Given the description of an element on the screen output the (x, y) to click on. 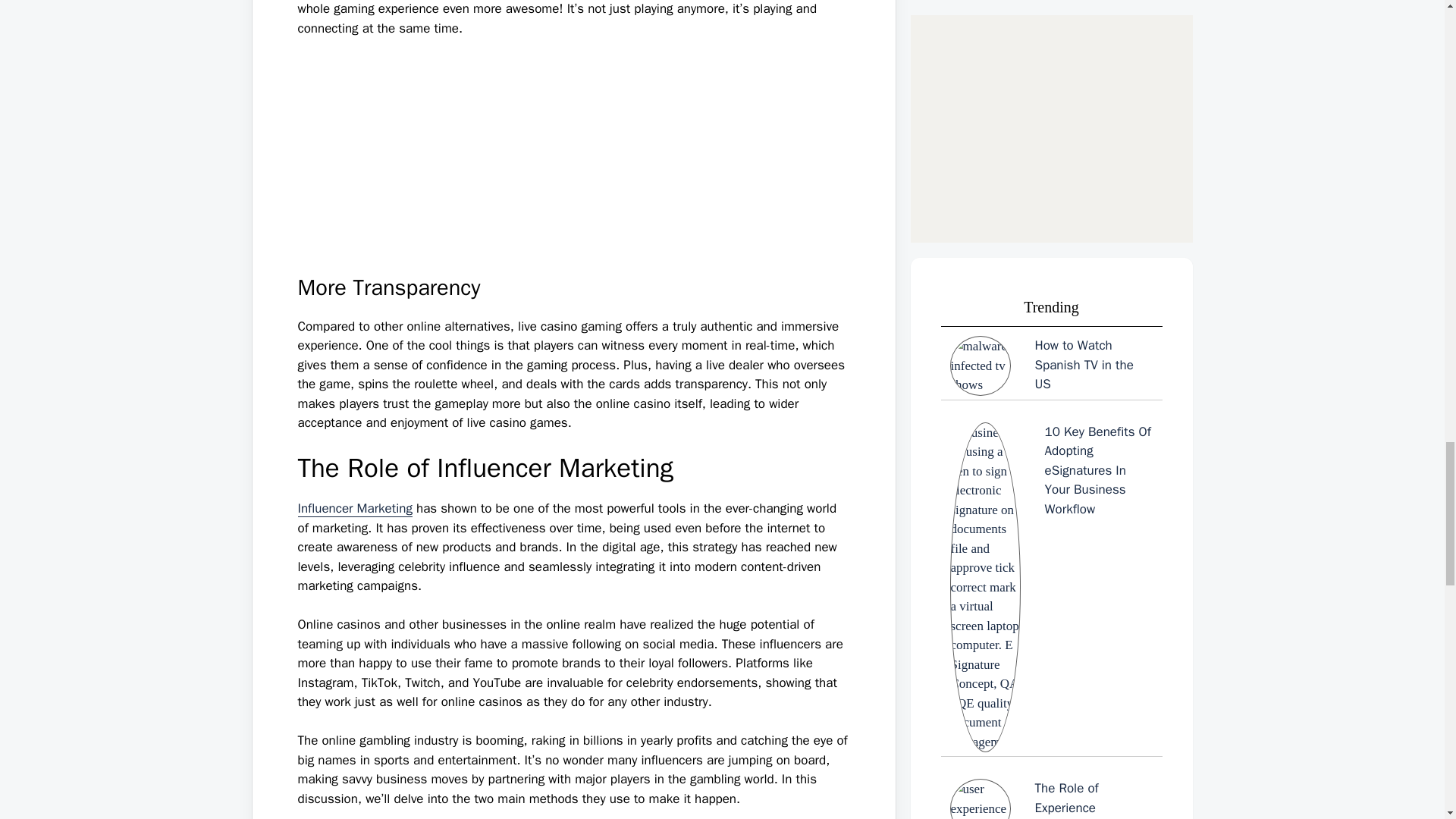
Influencer Marketing (354, 508)
